Given the description of an element on the screen output the (x, y) to click on. 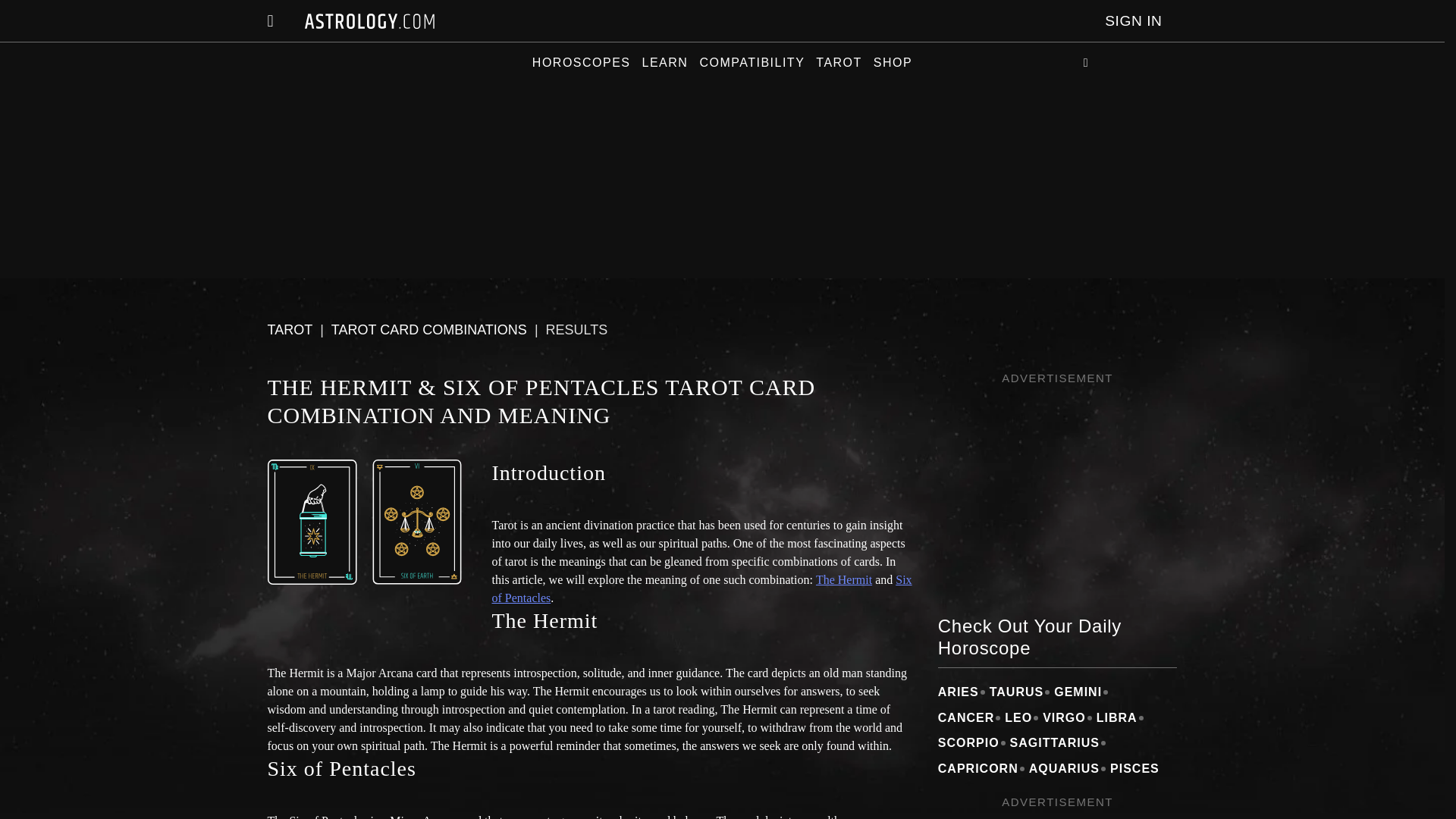
SIGN IN (1133, 21)
